Given the description of an element on the screen output the (x, y) to click on. 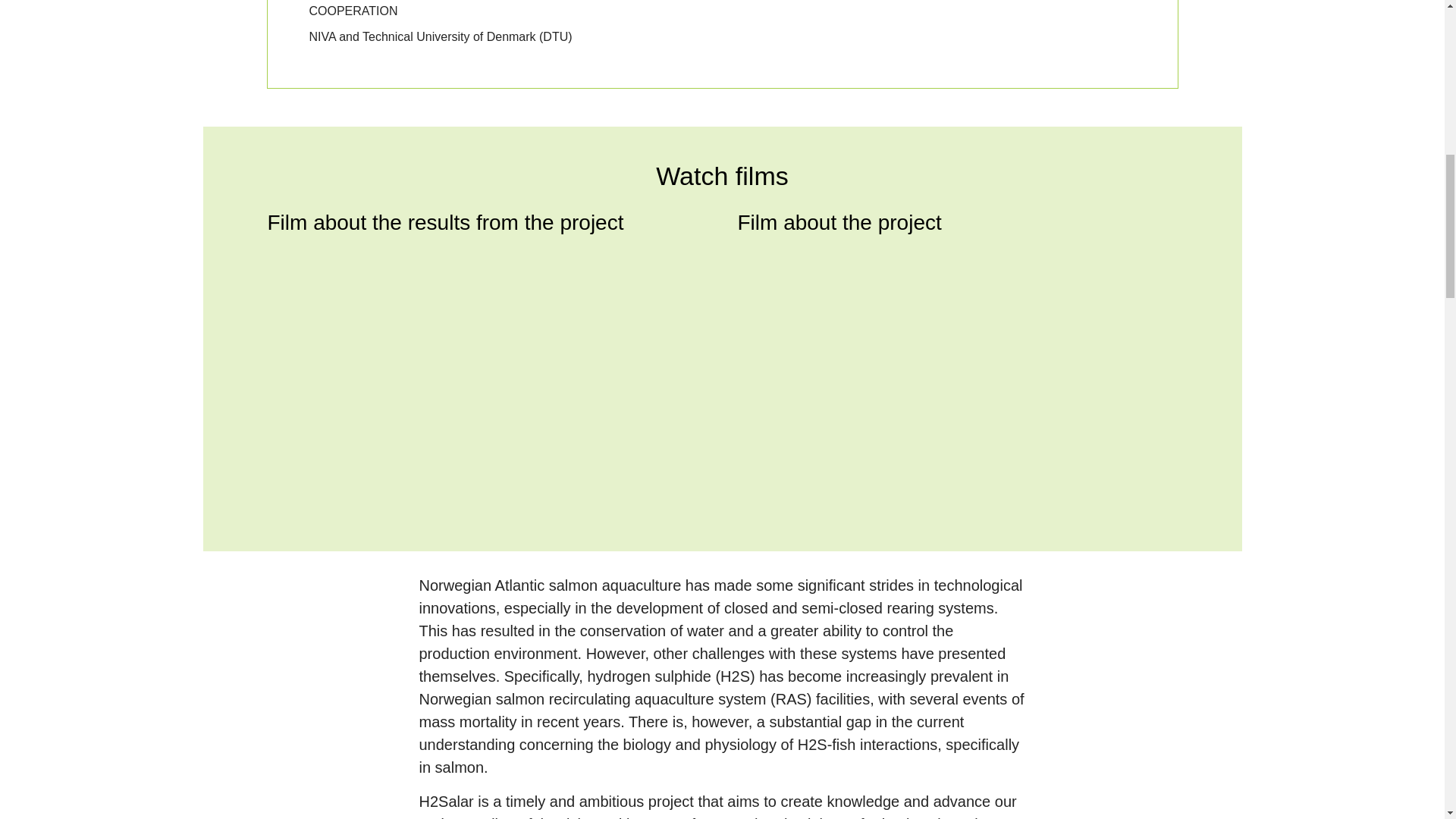
H2Salar (956, 373)
